Given the description of an element on the screen output the (x, y) to click on. 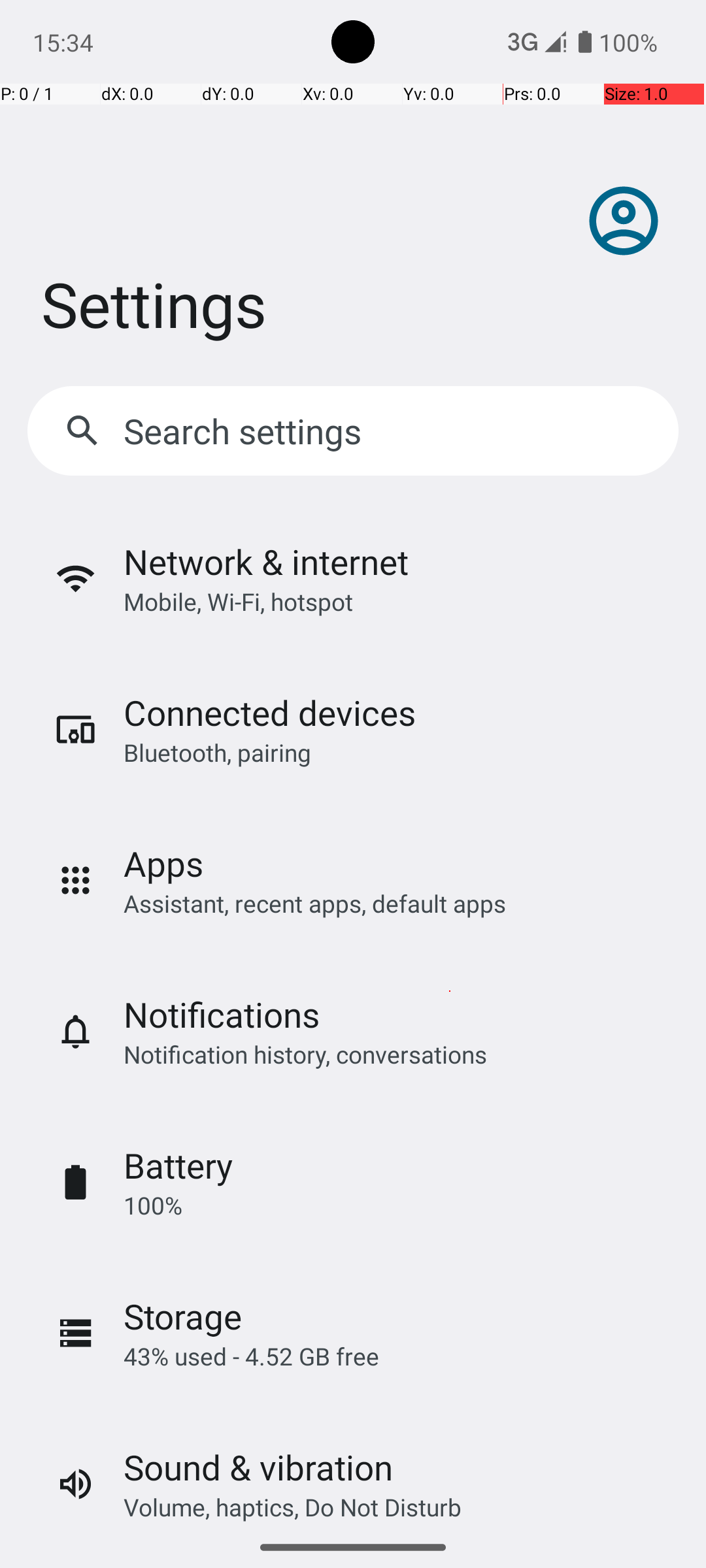
43% used - 4.52 GB free Element type: android.widget.TextView (251, 1355)
